Given the description of an element on the screen output the (x, y) to click on. 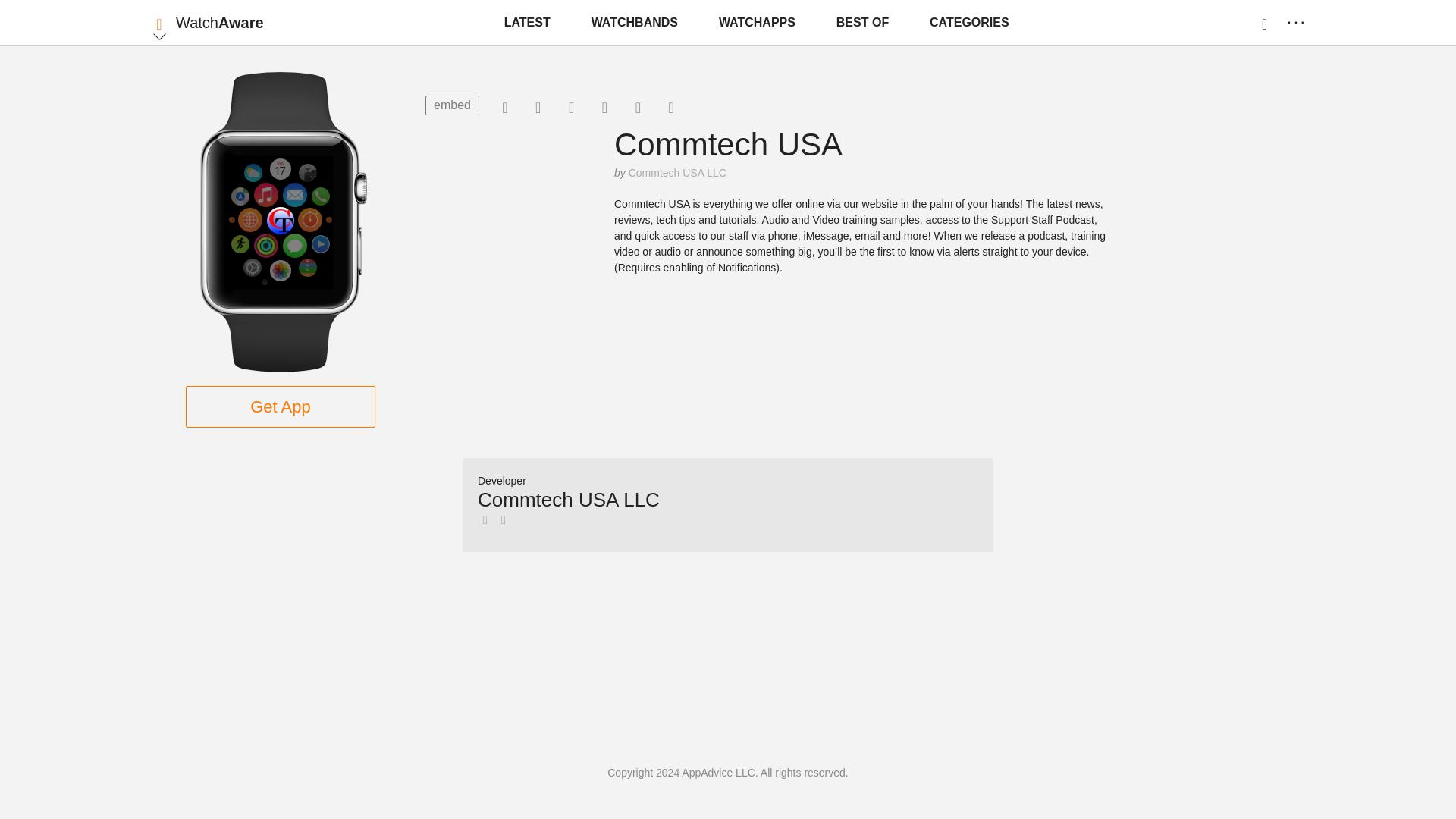
CATEGORIES (968, 22)
BEST OF (862, 22)
WATCHBANDS (634, 22)
LATEST (526, 22)
embed (452, 105)
WatchAware (219, 22)
WATCHAPPS (756, 22)
